Given the description of an element on the screen output the (x, y) to click on. 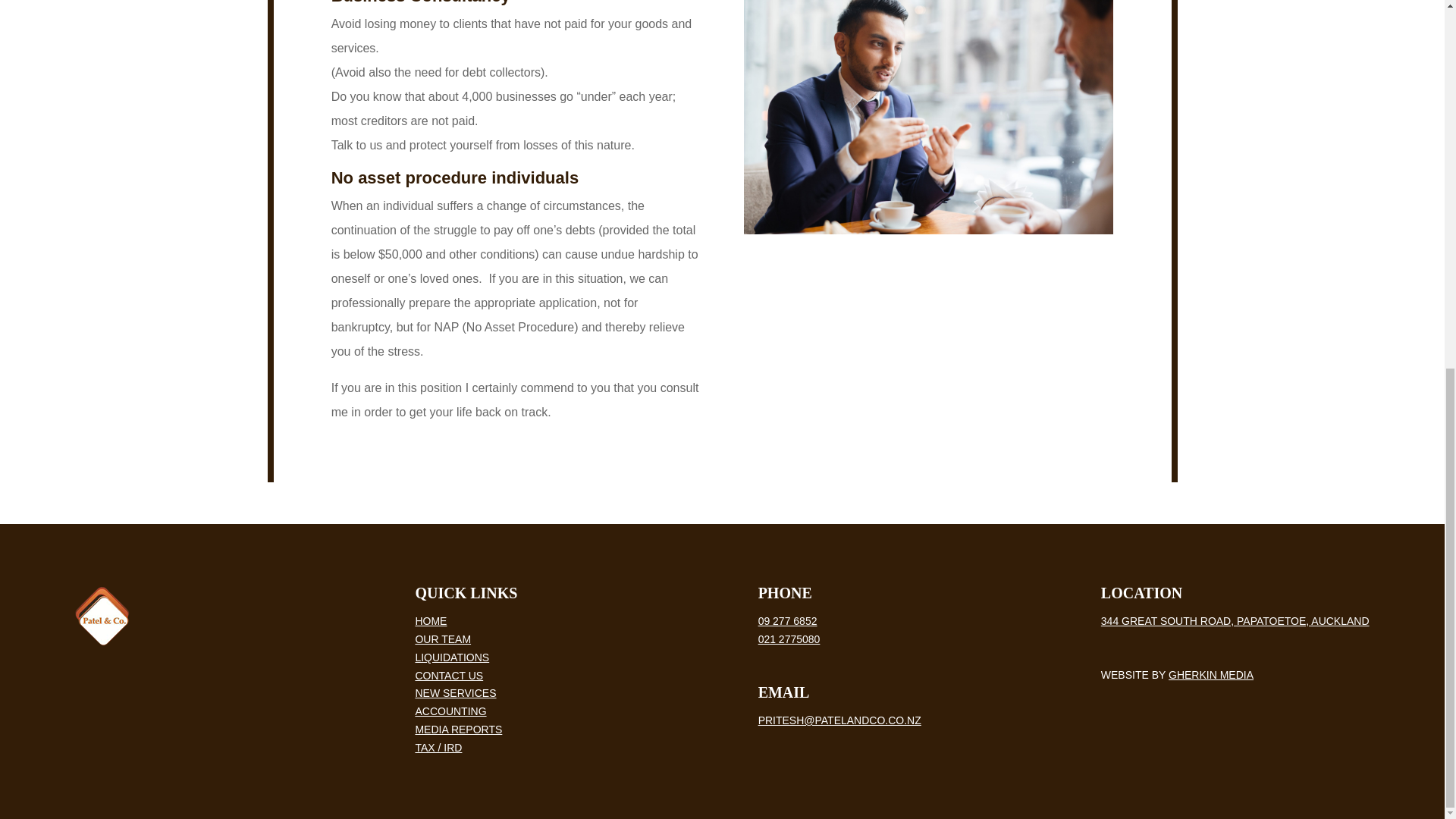
021 2775080 (789, 639)
logo (101, 615)
09 277 6852 (787, 621)
GHERKIN MEDIA (1211, 674)
NEW SERVICES (455, 693)
344 GREAT SOUTH ROAD, PAPATOETOE, AUCKLAND (1235, 621)
ACCOUNTING (450, 711)
LIQUIDATIONS (451, 657)
MEDIA REPORTS (458, 729)
CONTACT US (448, 675)
HOME (430, 621)
OUR TEAM (442, 639)
Explanation (928, 117)
